Given the description of an element on the screen output the (x, y) to click on. 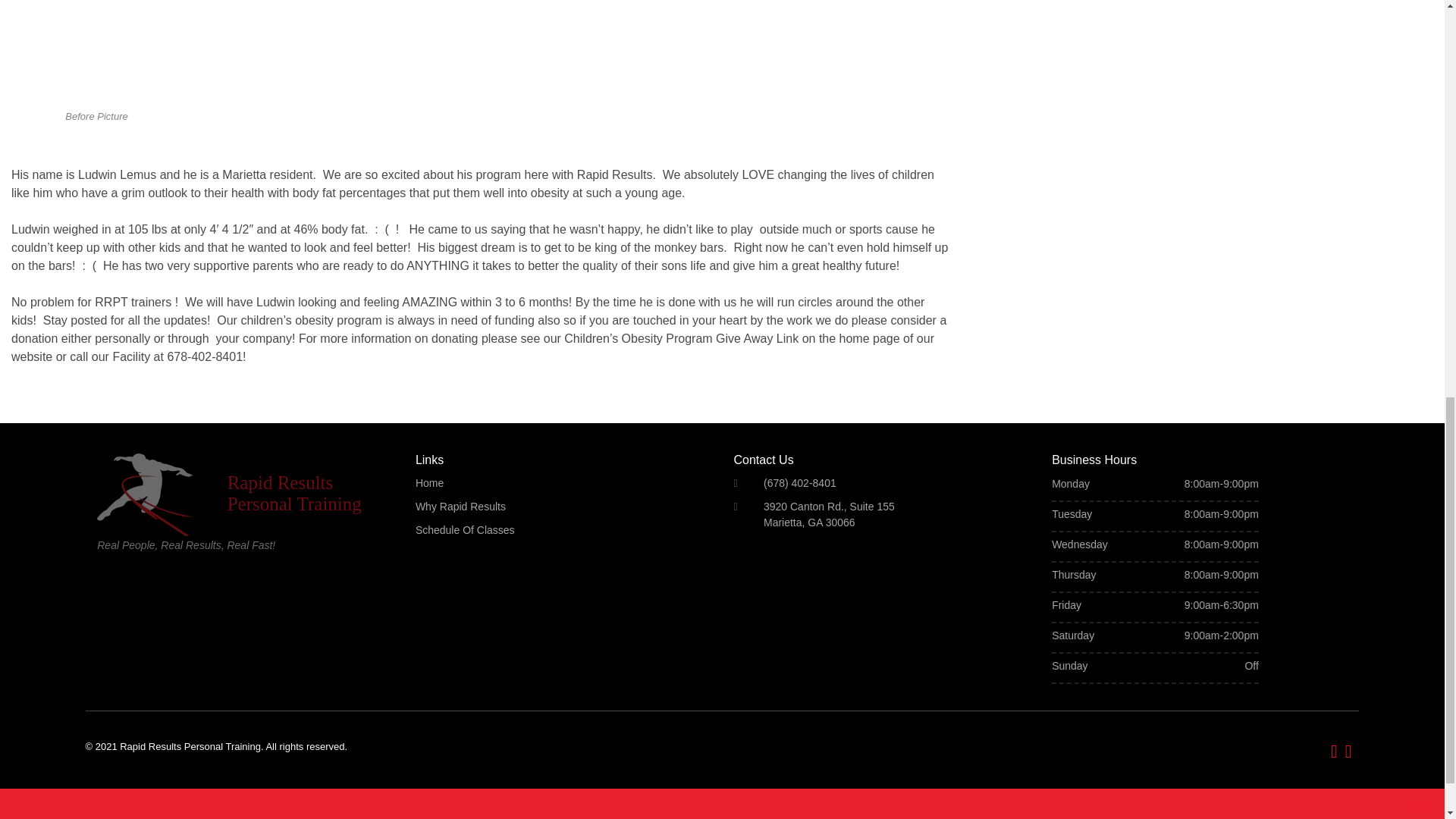
Visit Rapid Results Personal Training's Facebook page (1334, 749)
Visit Rapid Results Personal Training's Facebook page (1415, 806)
Visit Rapid Results Personal Training's Instagram page (1348, 749)
Visit Rapid Results Personal Training's Instagram page (1429, 806)
